Given the description of an element on the screen output the (x, y) to click on. 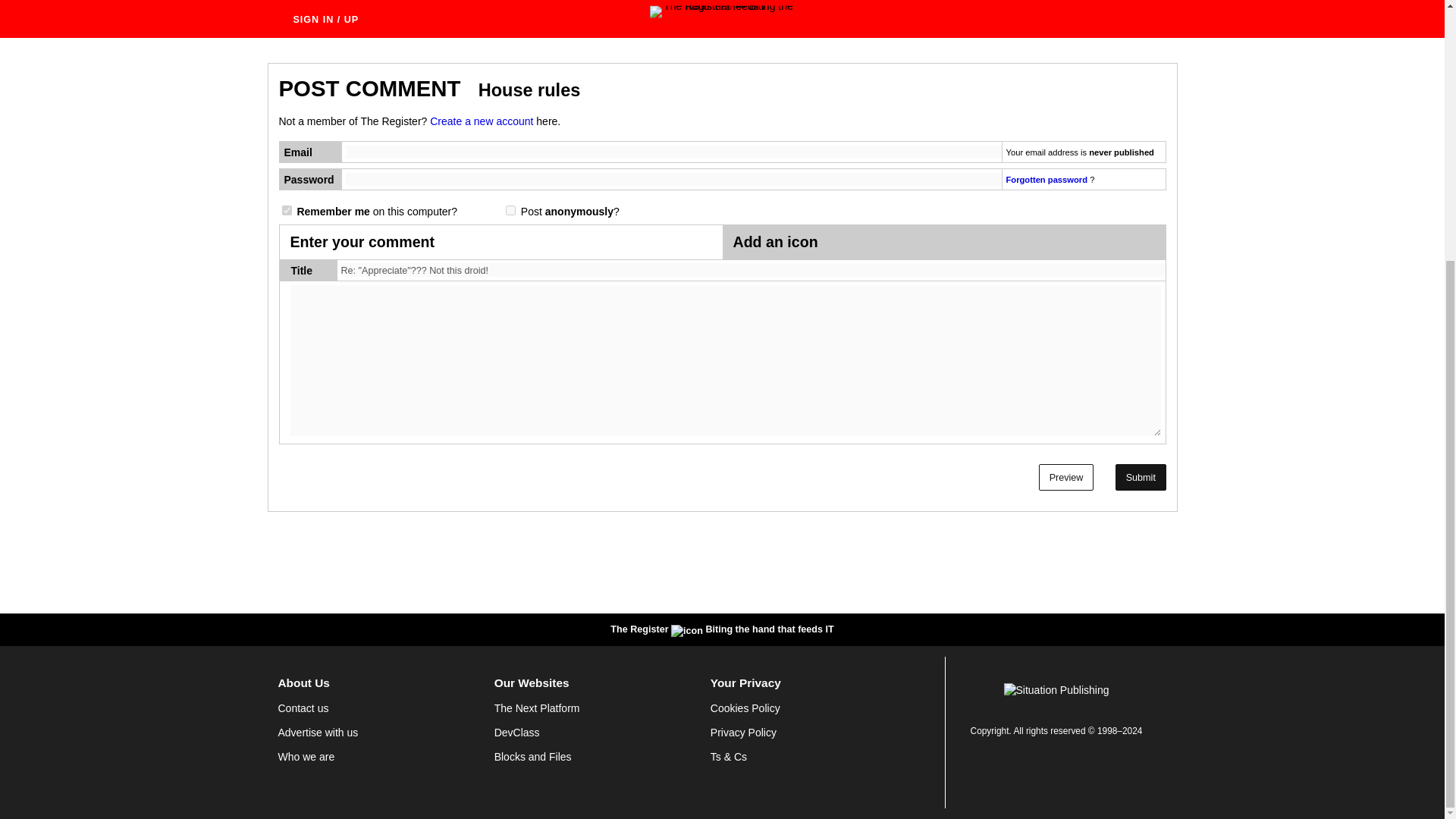
Submit (1140, 477)
1 (510, 210)
Preview (1066, 477)
1 (287, 210)
Re: "Appreciate"??? Not this droid! (753, 269)
